Given the description of an element on the screen output the (x, y) to click on. 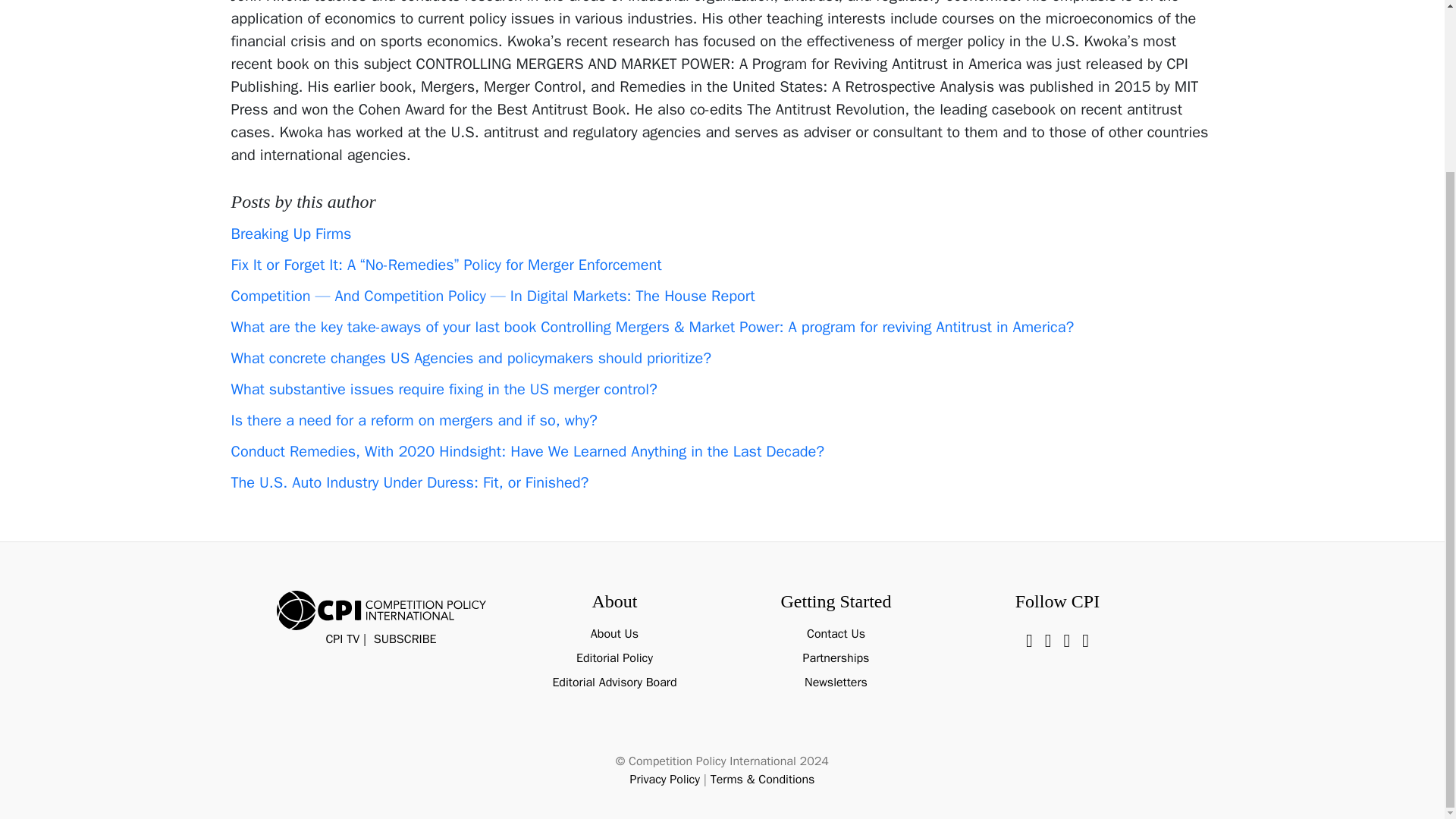
Breaking Up Firms (290, 233)
Editorial Policy (614, 658)
Privacy Policy (665, 779)
Is there a need for a reform on mergers and if so, why? (413, 420)
Is there a need for a reform on mergers and if so, why? (413, 420)
Editorial Advisory Board (614, 682)
The U.S. Auto Industry Under Duress: Fit, or Finished? (409, 482)
Contact Us (835, 633)
Breaking Up Firms (290, 233)
SUBSCRIBE (405, 639)
The U.S. Auto Industry Under Duress: Fit, or Finished? (409, 482)
About Us (614, 633)
